Given the description of an element on the screen output the (x, y) to click on. 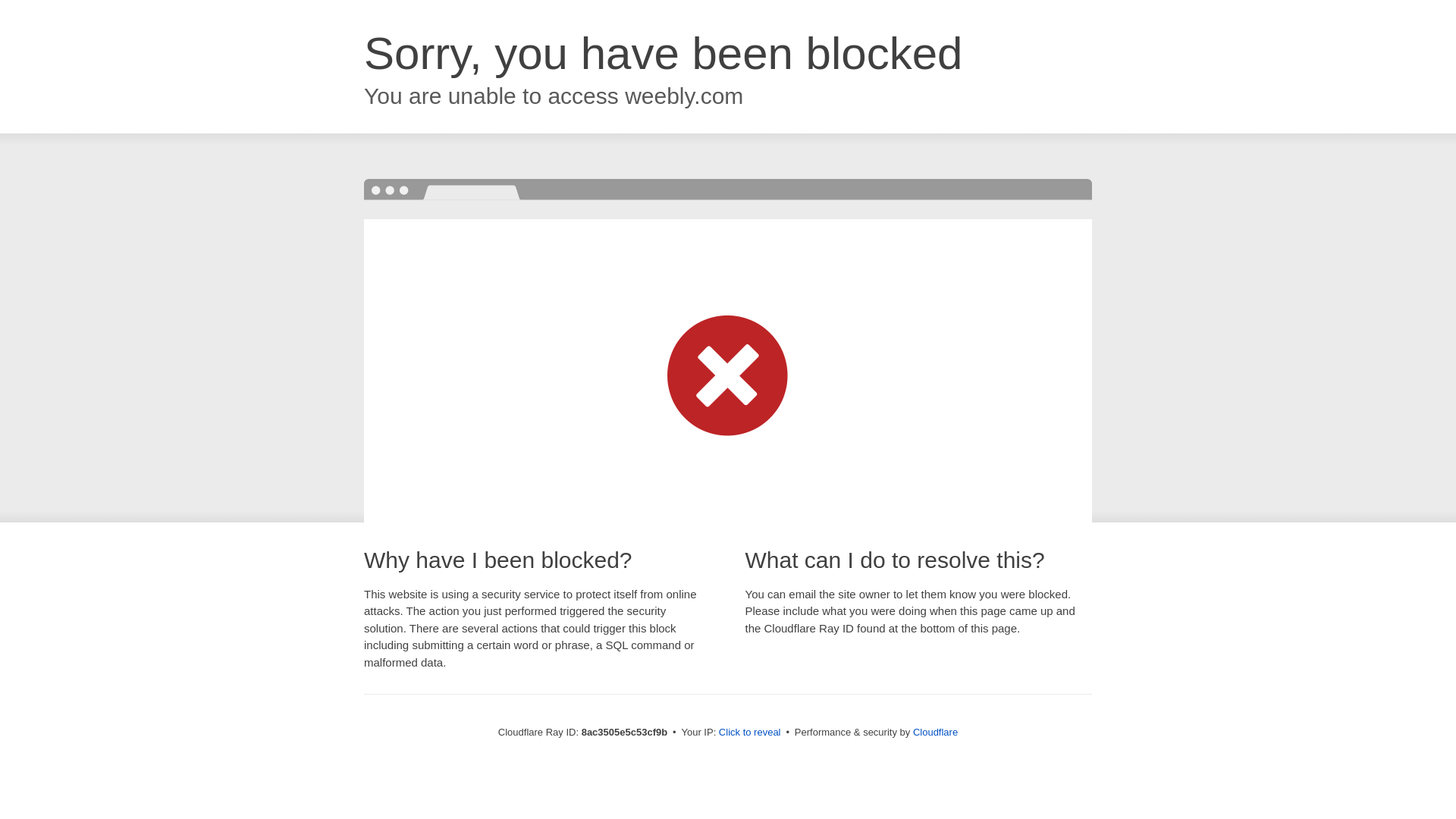
Cloudflare (935, 731)
Click to reveal (749, 732)
